Given the description of an element on the screen output the (x, y) to click on. 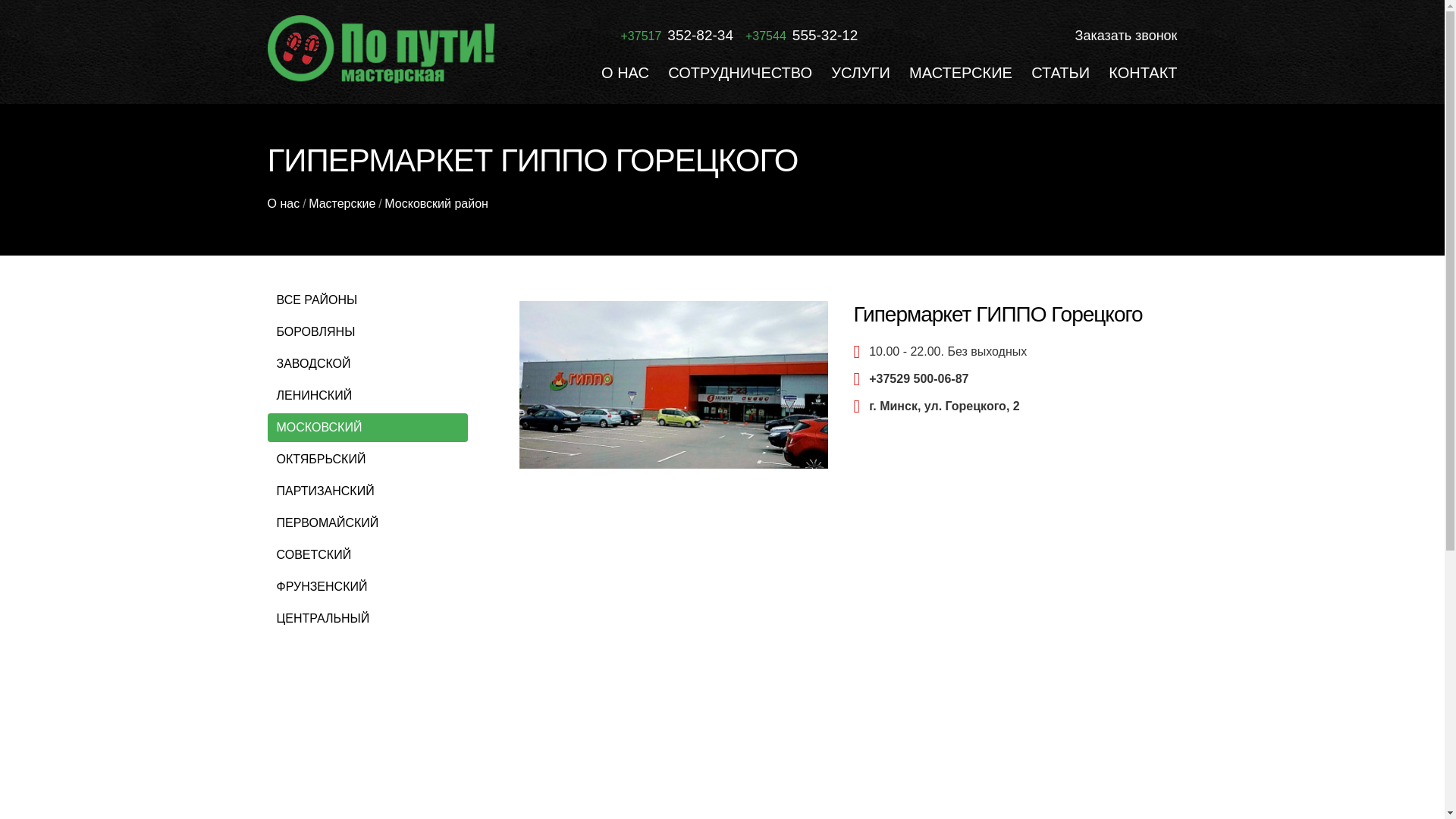
+37517352-82-34 Element type: text (676, 35)
+37544555-32-12 Element type: text (801, 35)
